Given the description of an element on the screen output the (x, y) to click on. 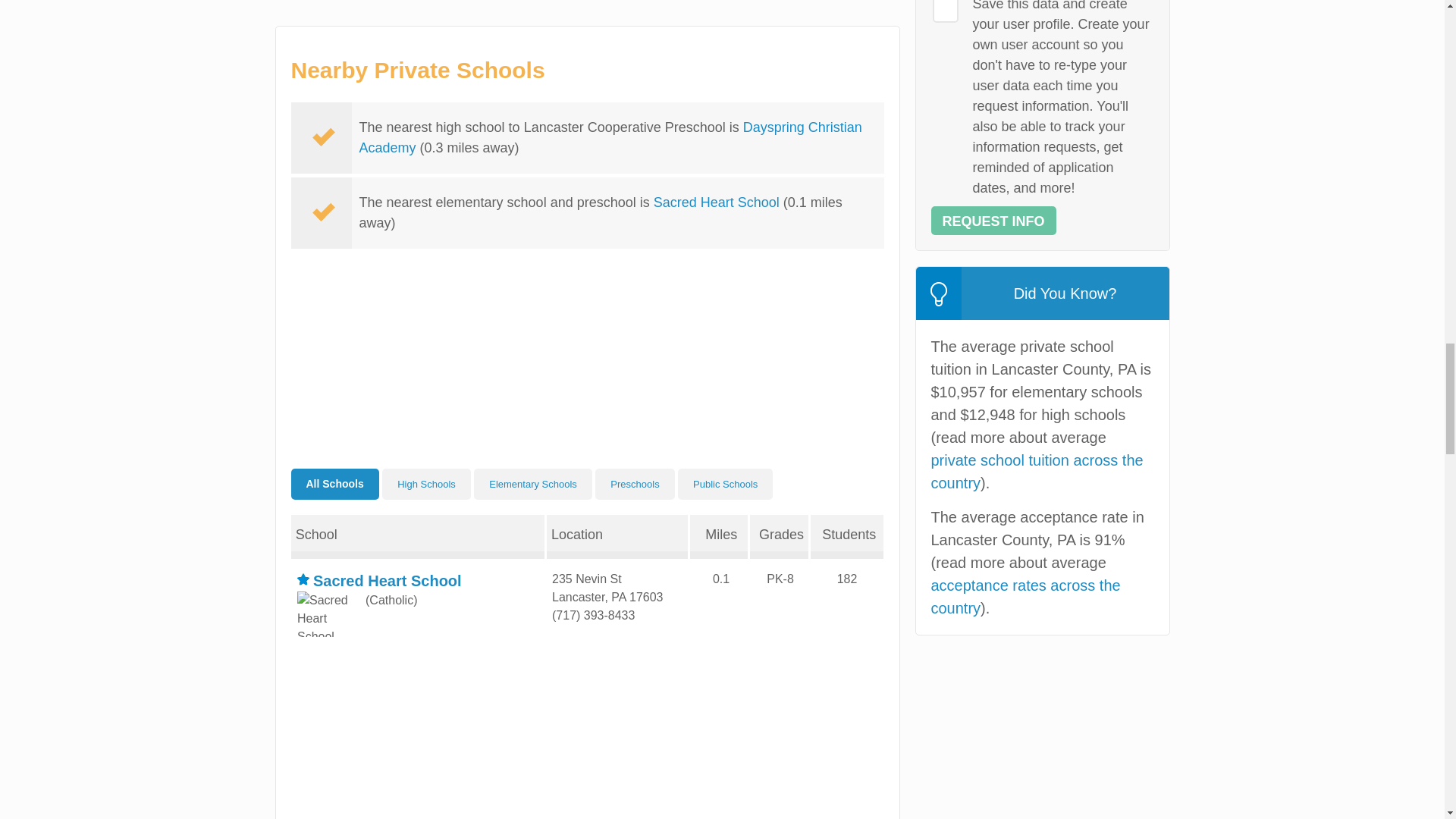
Dayspring Christian Academy (610, 137)
High Schools (425, 483)
All Schools (334, 483)
Sacred Heart School (715, 201)
Top Ranked School (302, 579)
